Given the description of an element on the screen output the (x, y) to click on. 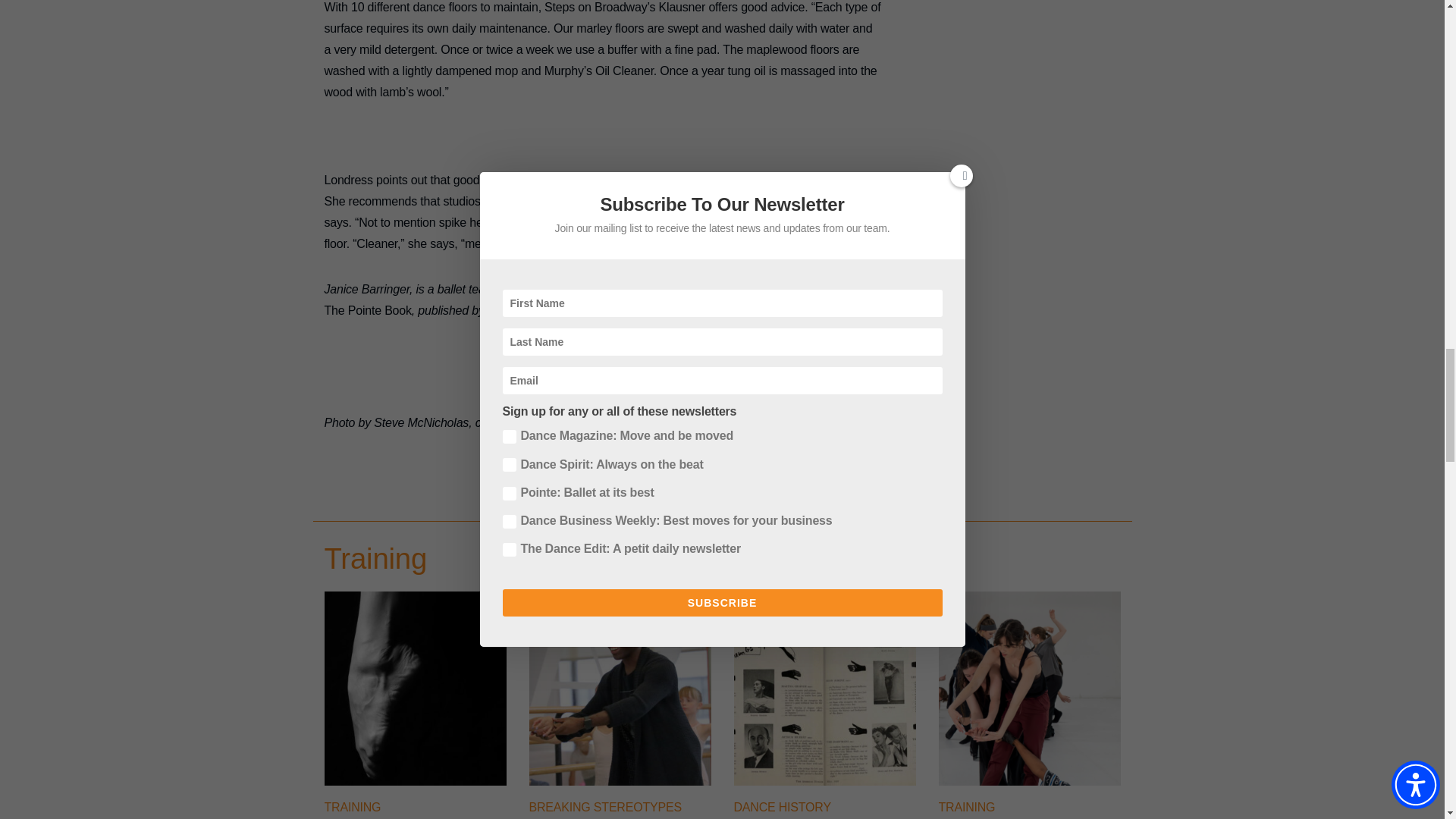
Christopher Charles McDaniel Blazes His Own Path at SAB (620, 780)
Do Grades in BFA Programs Really Matter? (1030, 780)
Safety Tips for Winged and Sickled Feet (415, 780)
